Given the description of an element on the screen output the (x, y) to click on. 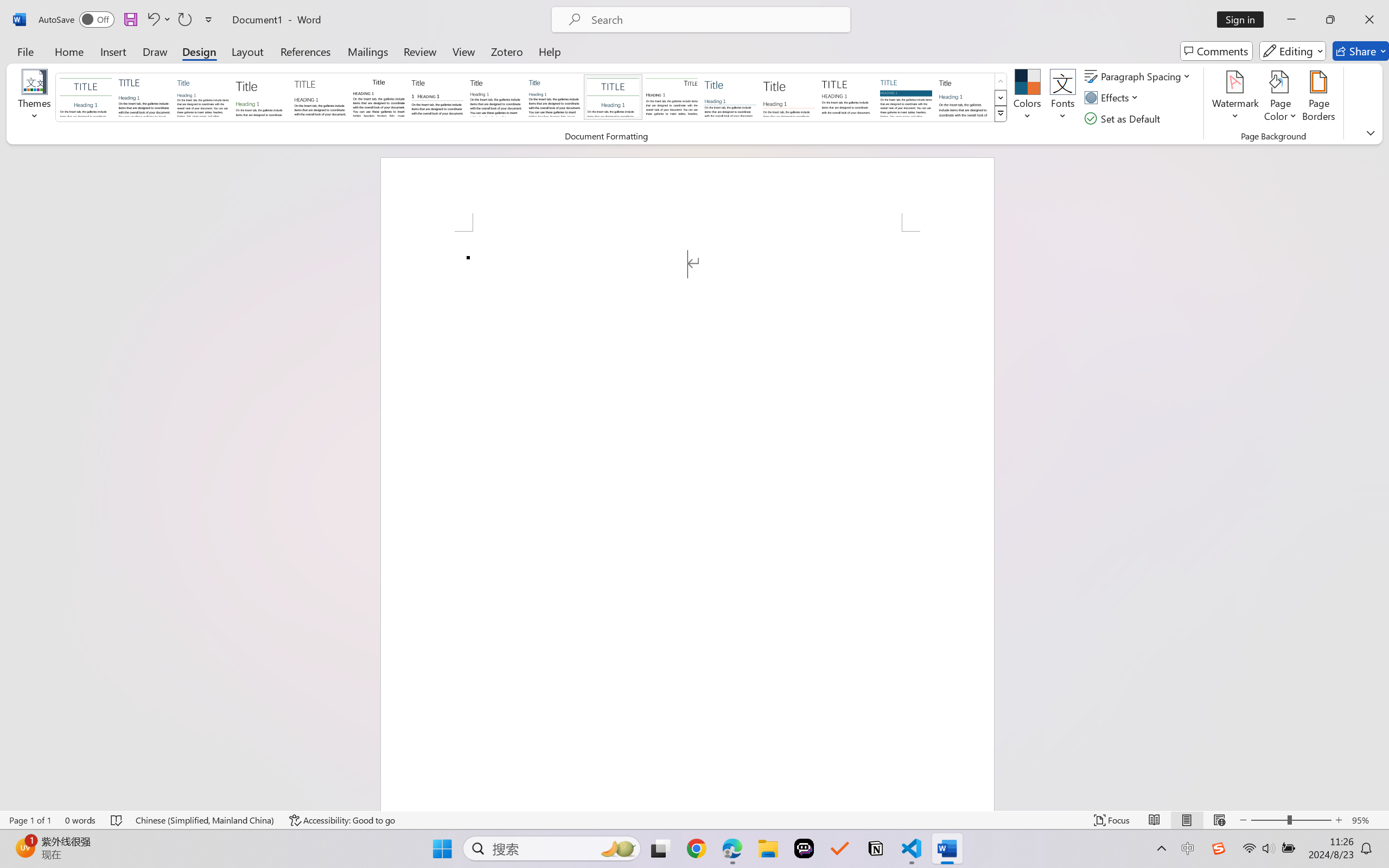
Editing (1292, 50)
Basic (Elegant) (144, 96)
Set as Default (1124, 118)
Paragraph Spacing (1139, 75)
Casual (554, 96)
Page Borders... (1318, 97)
Word (964, 96)
Sign in (1244, 19)
